Given the description of an element on the screen output the (x, y) to click on. 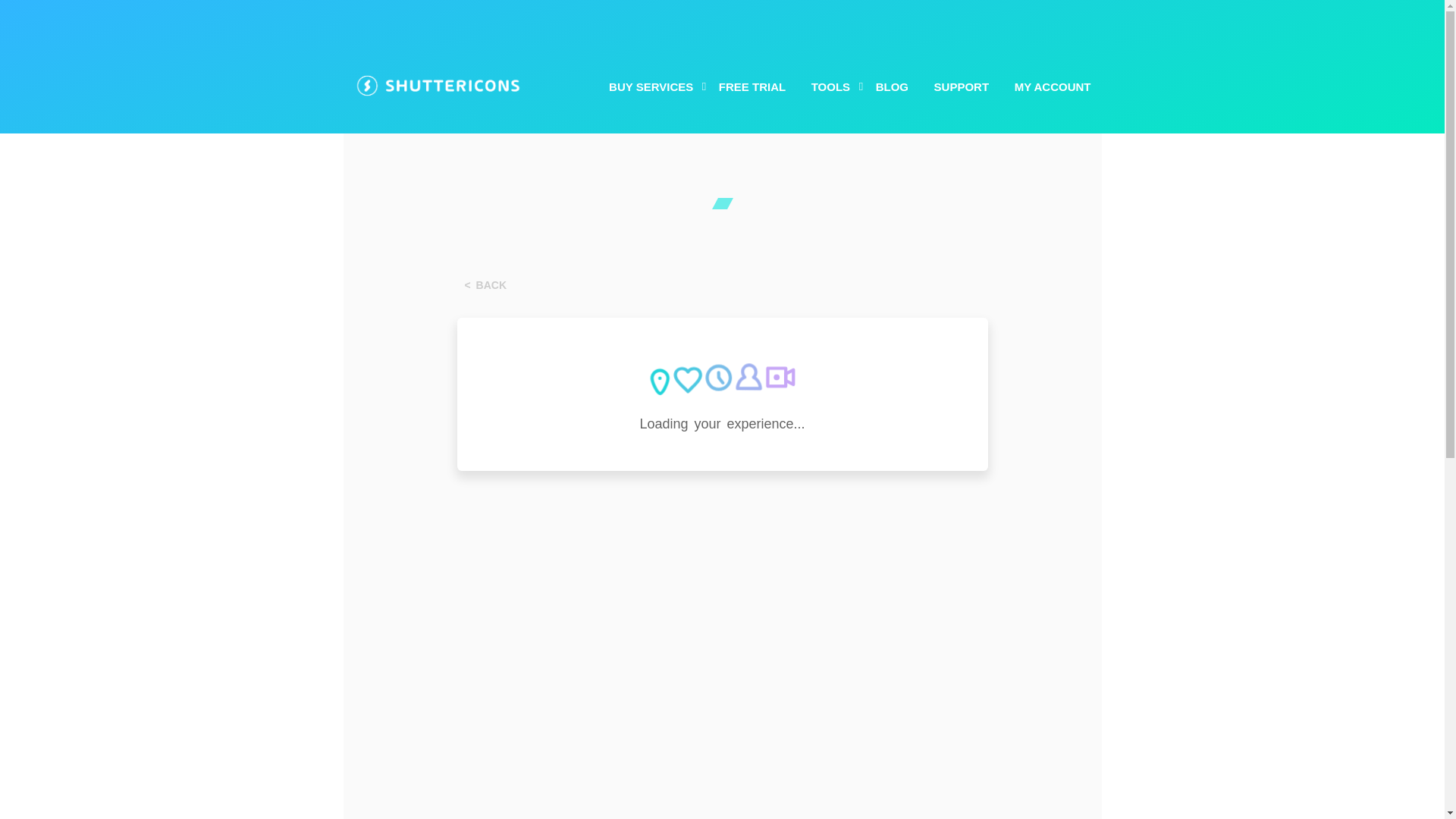
BLOG (892, 86)
MY ACCOUNT (1052, 86)
shuttericons (437, 85)
FREE TRIAL (752, 86)
SUPPORT (962, 86)
To Homepage (485, 285)
TOOLS (830, 86)
BUY SERVICES (650, 86)
